Given the description of an element on the screen output the (x, y) to click on. 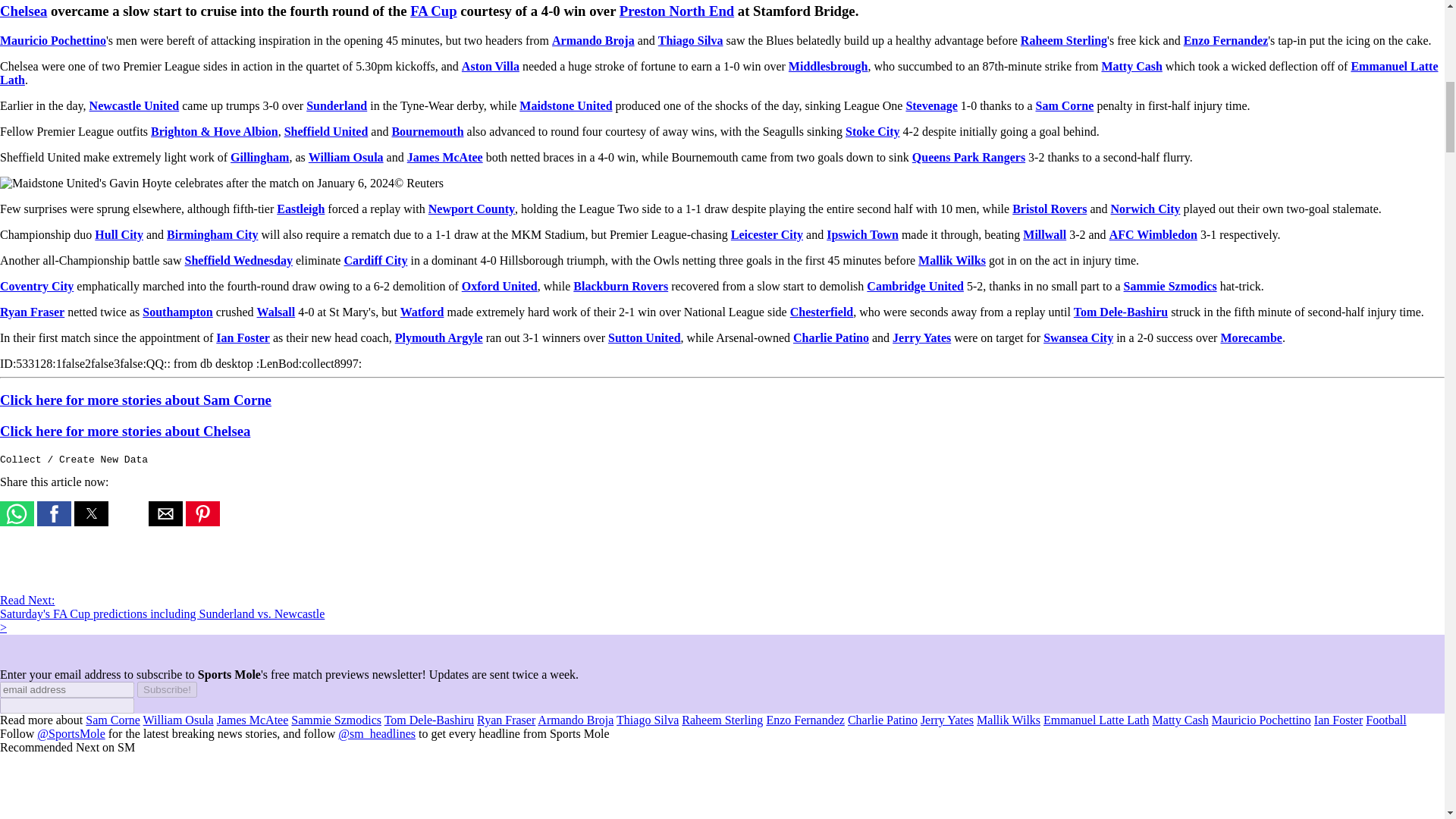
Subscribe! (166, 689)
